Given the description of an element on the screen output the (x, y) to click on. 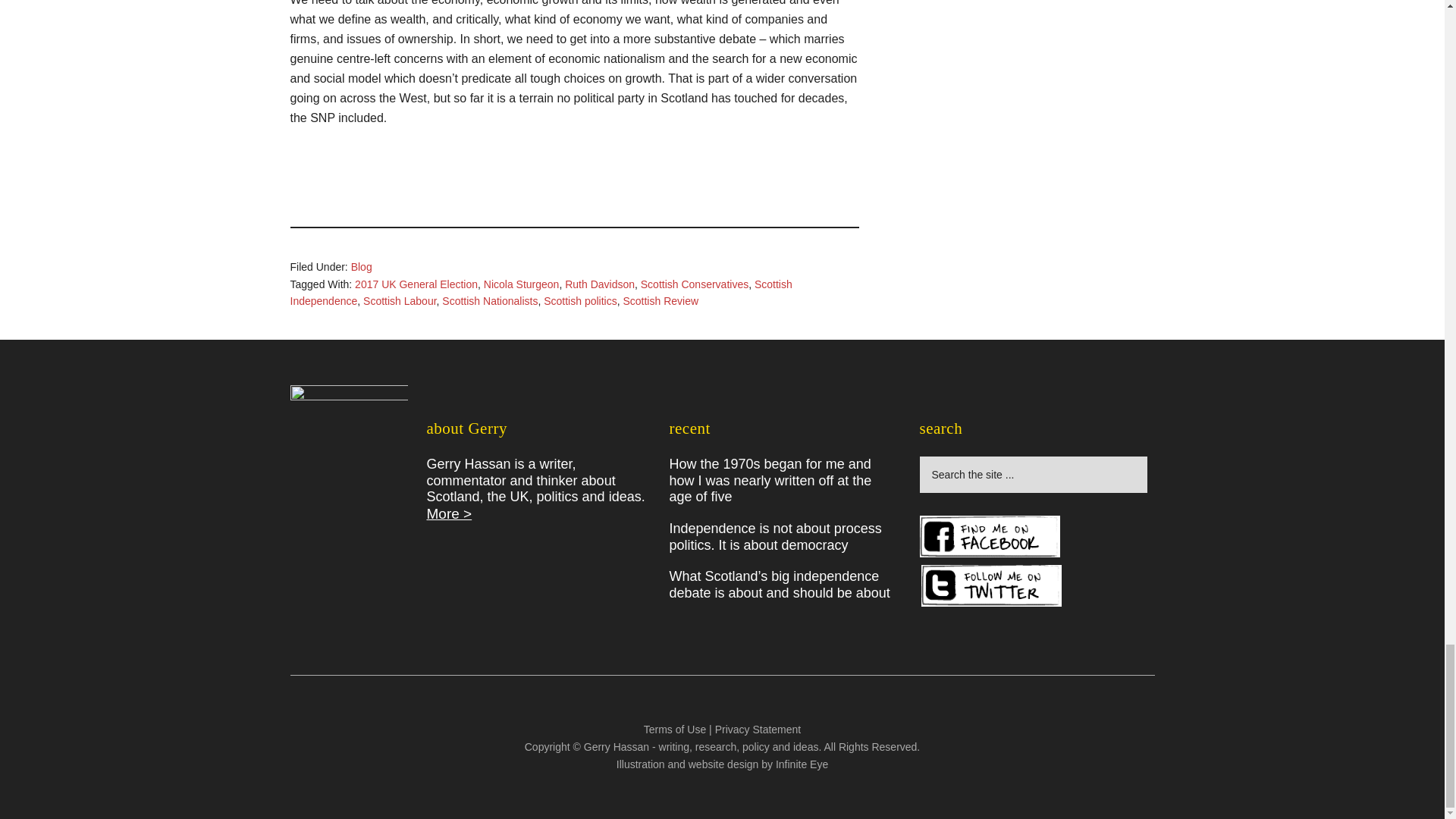
Gerry Hassan Facebook Page (988, 536)
Scottish Independence (540, 292)
Blog (361, 266)
Scottish Nationalists (489, 300)
Scottish Conservatives (694, 284)
2017 UK General Election (416, 284)
Gerry Hassan on Twitter (991, 585)
Scottish politics (579, 300)
Ruth Davidson (599, 284)
Scottish Labour (399, 300)
Scottish Review (660, 300)
Nicola Sturgeon (521, 284)
